Given the description of an element on the screen output the (x, y) to click on. 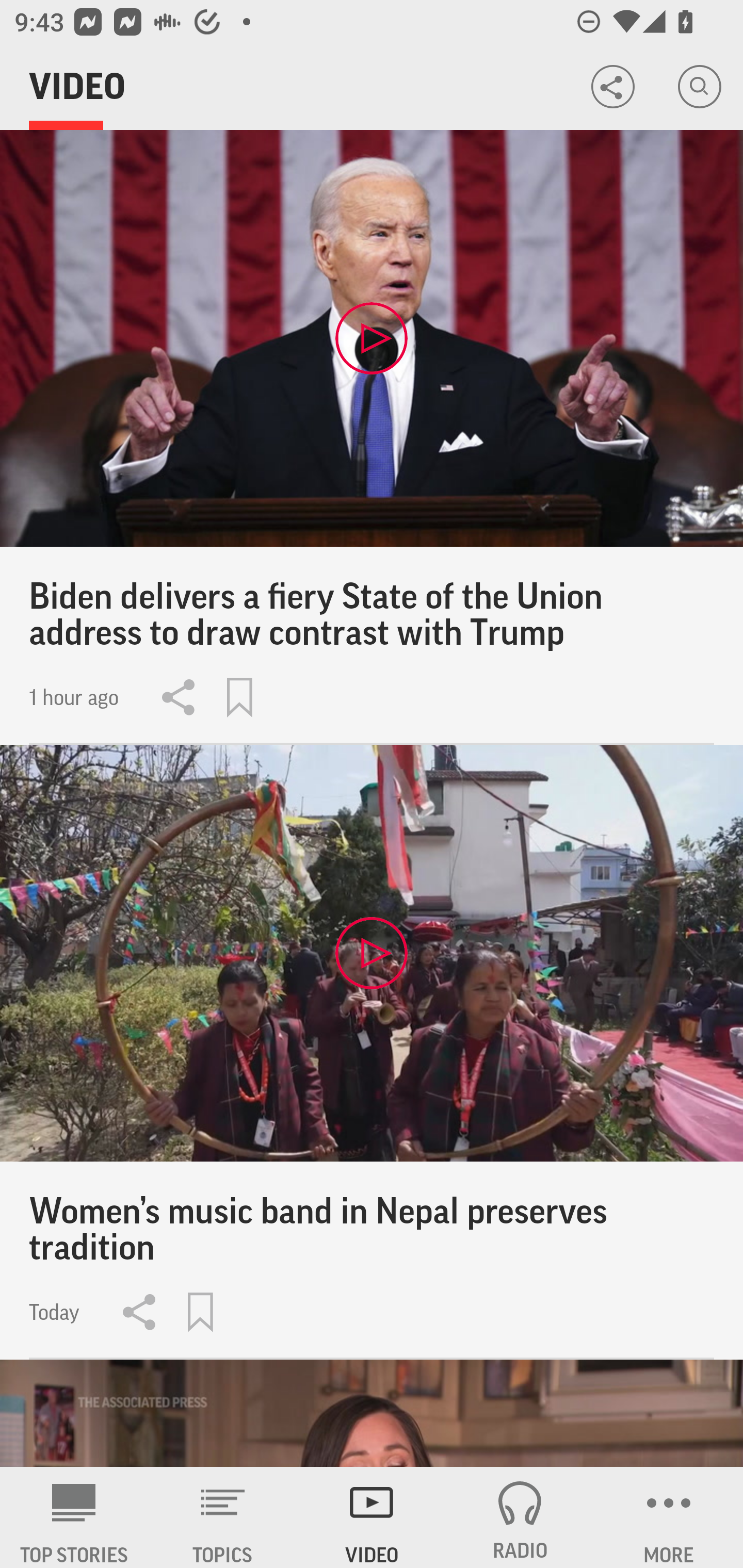
AP News TOP STORIES (74, 1517)
TOPICS (222, 1517)
VIDEO (371, 1517)
RADIO (519, 1517)
MORE (668, 1517)
